Given the description of an element on the screen output the (x, y) to click on. 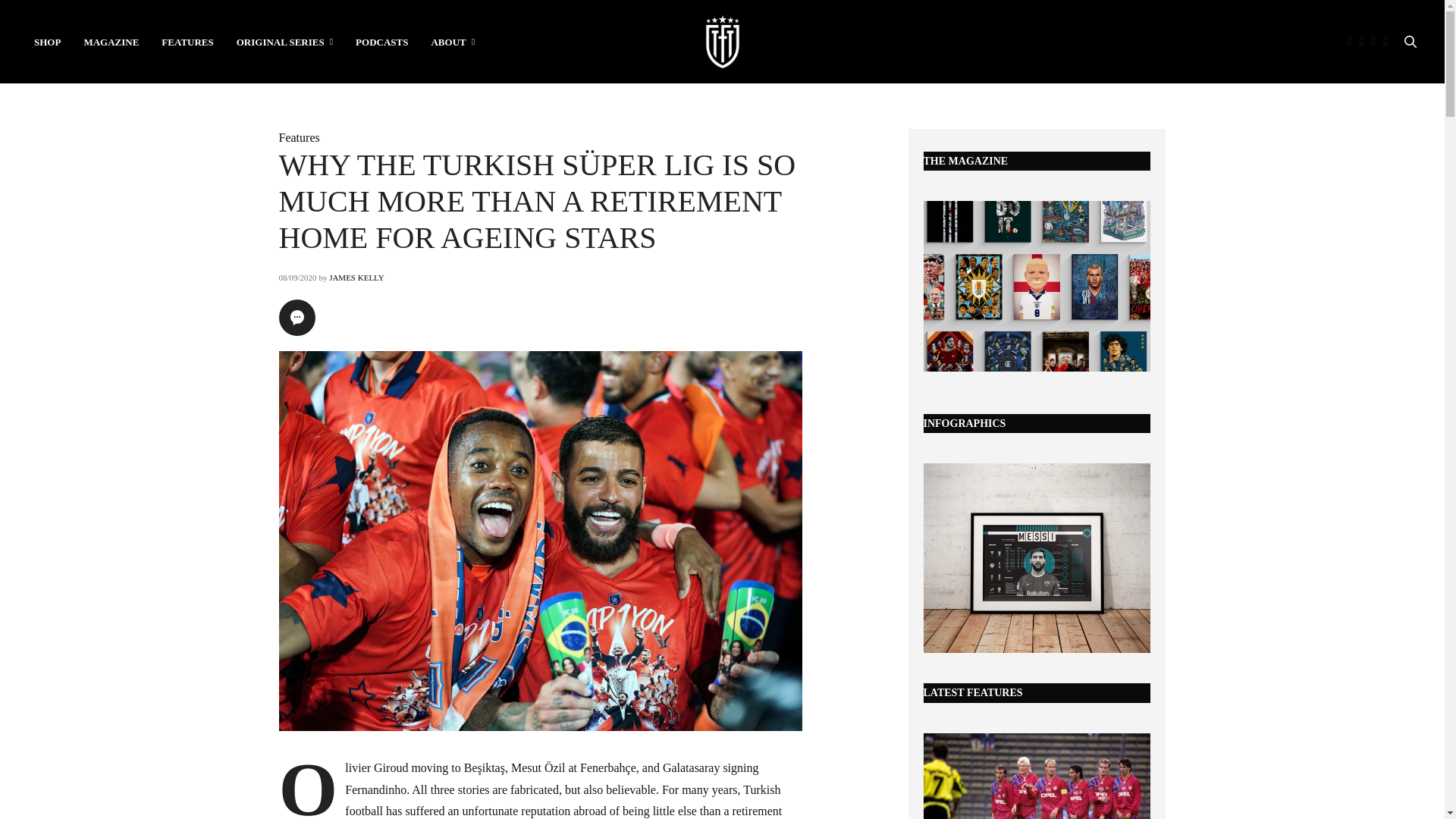
FEATURES (186, 41)
MAGAZINE (110, 41)
ORIGINAL SERIES (284, 41)
Posts by James Kelly (356, 276)
